Given the description of an element on the screen output the (x, y) to click on. 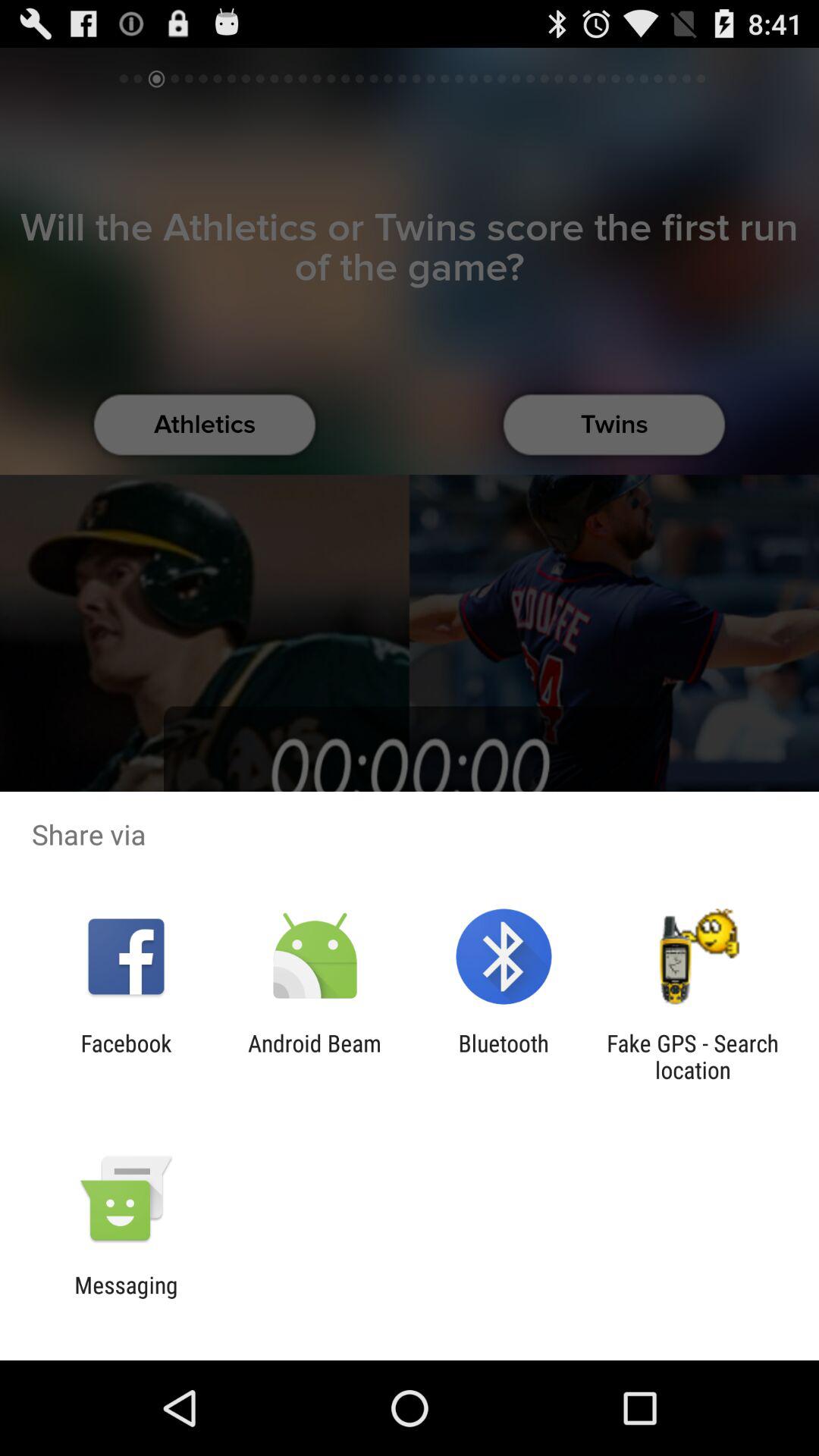
tap the bluetooth icon (503, 1056)
